Given the description of an element on the screen output the (x, y) to click on. 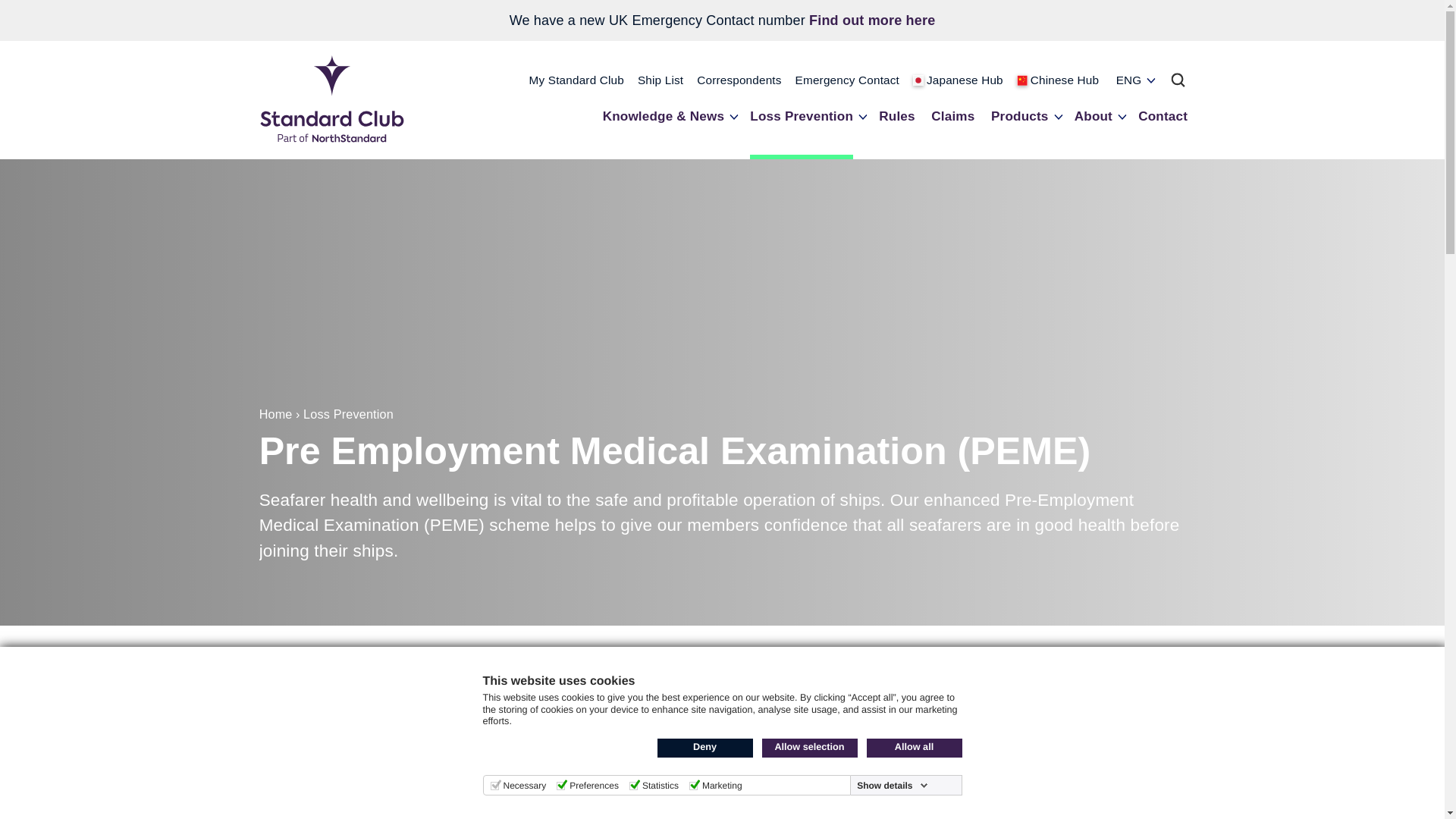
Deny (704, 747)
Allow selection (809, 747)
Show details (891, 785)
Allow all (913, 747)
